Given the description of an element on the screen output the (x, y) to click on. 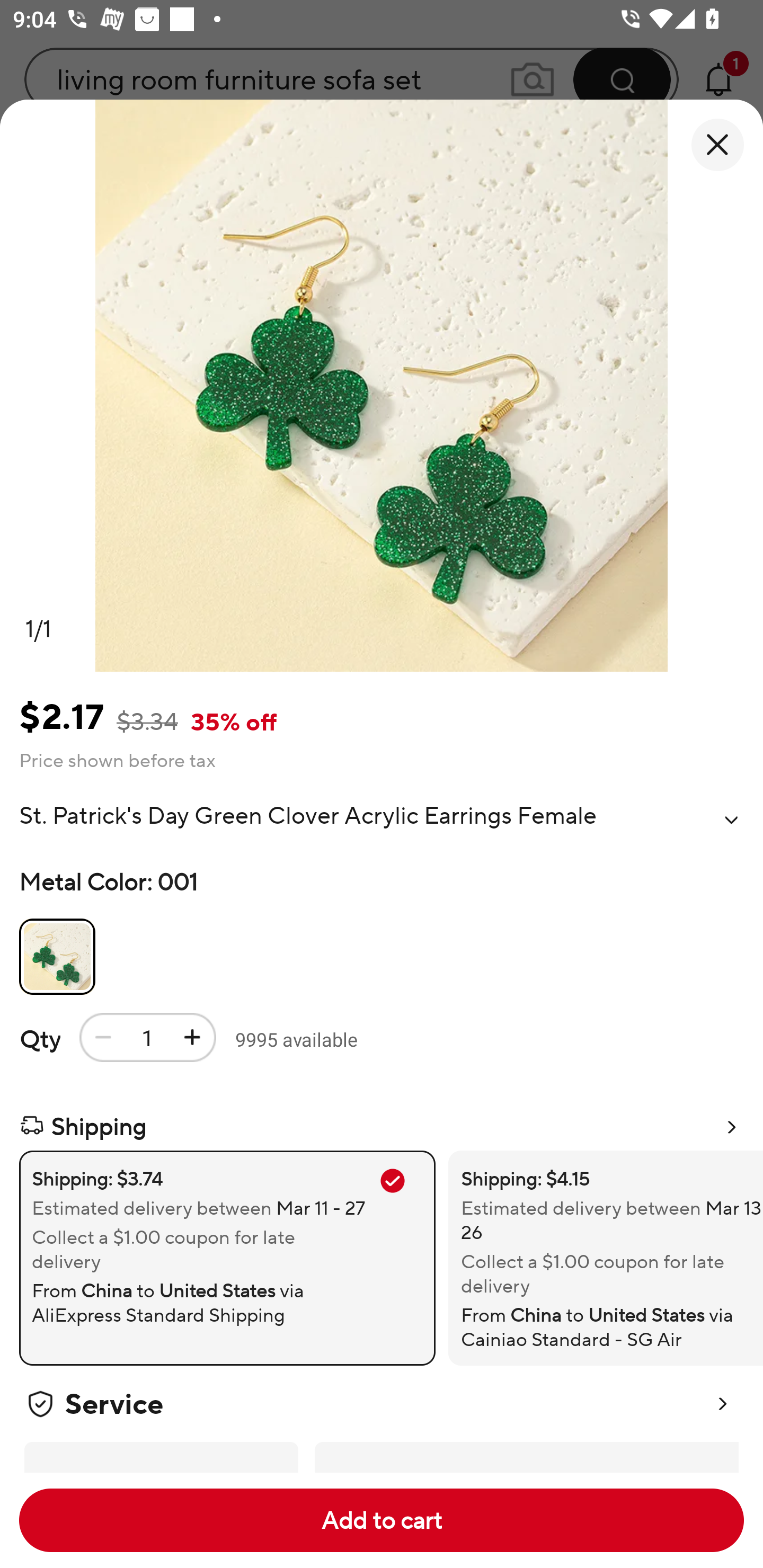
close  (717, 144)
 (730, 819)
Add to cart (381, 1520)
